Given the description of an element on the screen output the (x, y) to click on. 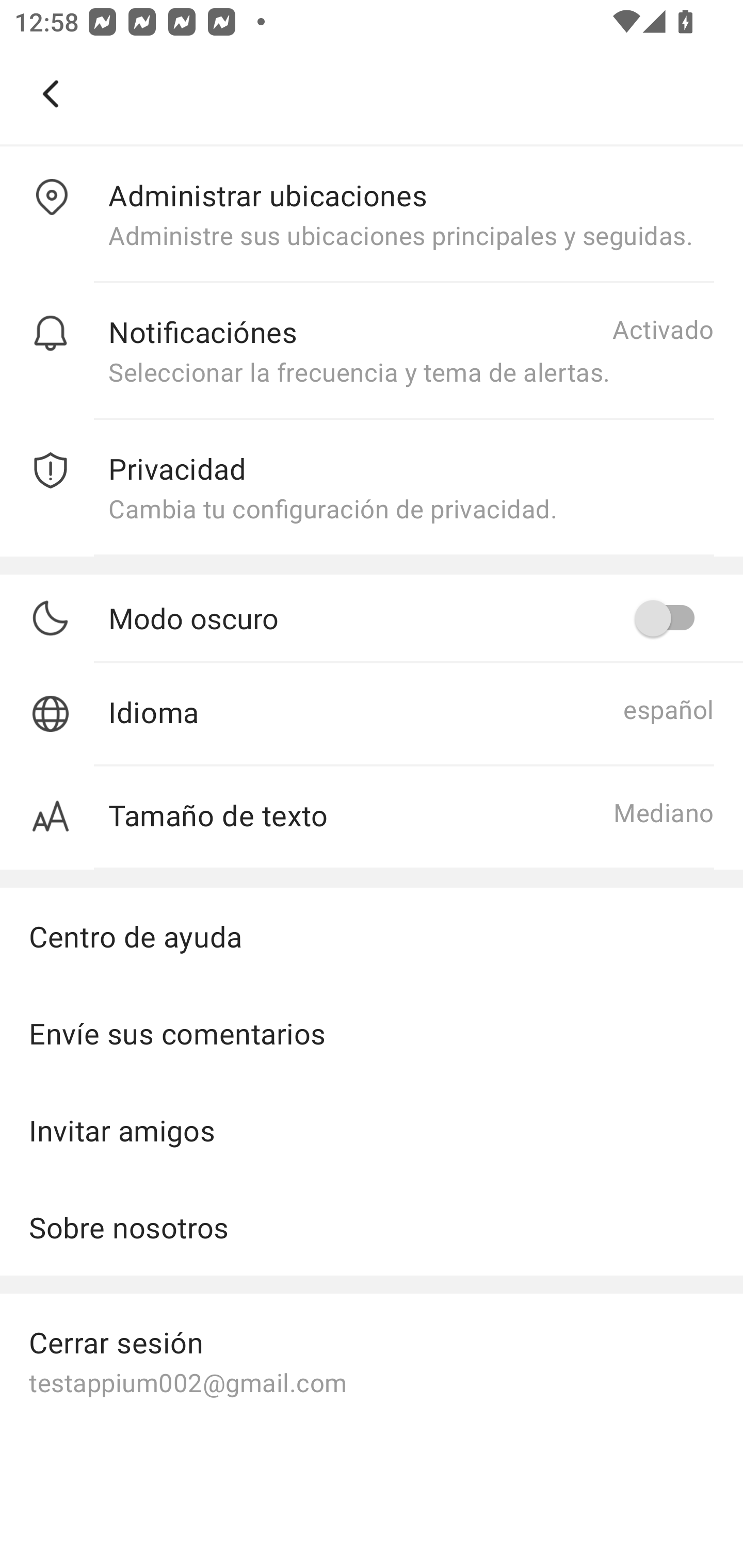
Navegar hacia arriba (50, 93)
Privacidad Cambia tu configuración de privacidad. (371, 488)
Modo oscuro (411, 617)
Idioma español (371, 714)
Tamaño de texto Mediano (371, 818)
Centro de ayuda (371, 935)
Envíe sus comentarios (371, 1032)
Invitar amigos (371, 1130)
Sobre nosotros (371, 1226)
Cerrar sesión testappium002@gmail.com (371, 1360)
